Given the description of an element on the screen output the (x, y) to click on. 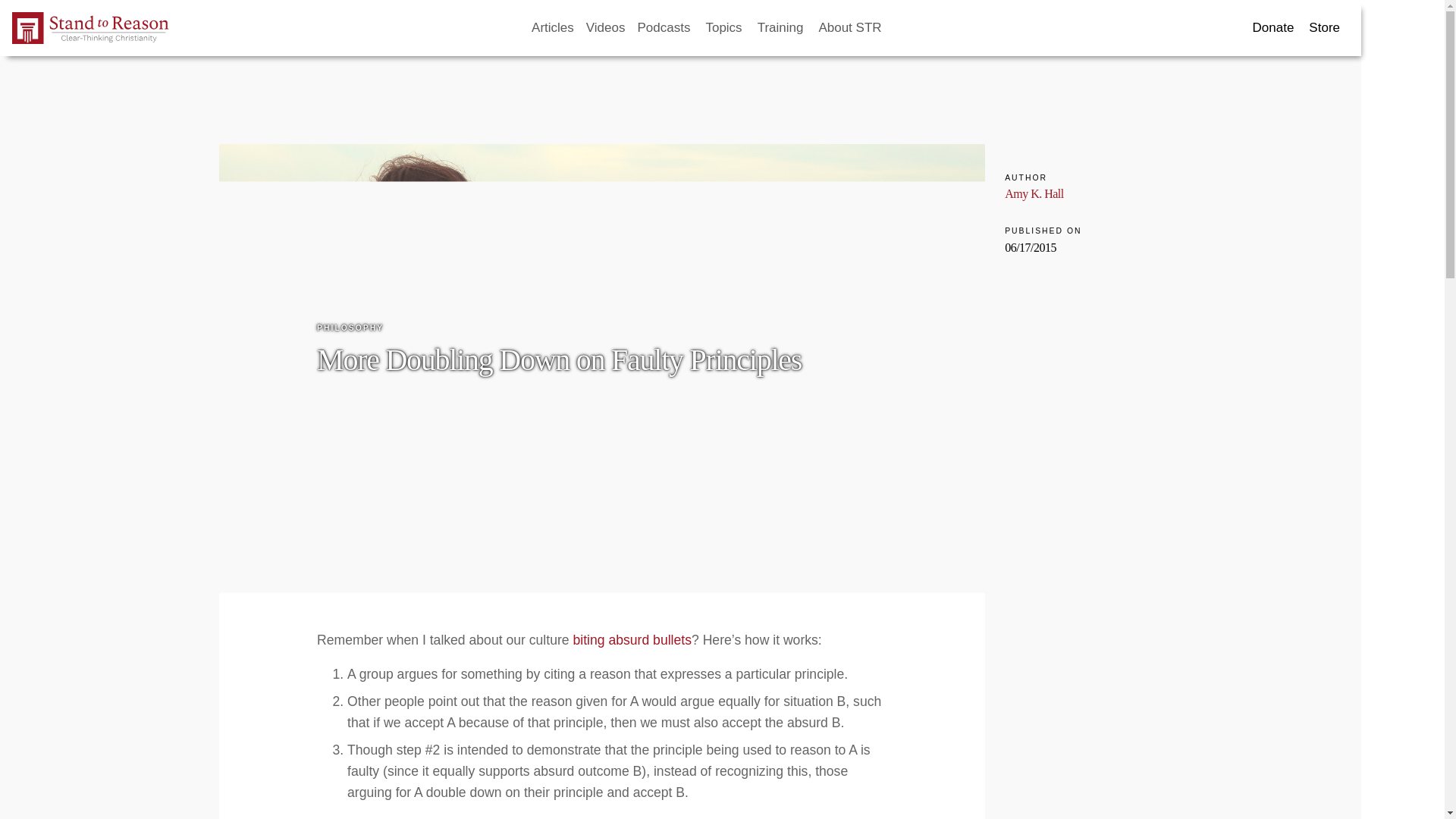
Topics (724, 28)
About STR (850, 28)
Training (781, 28)
Podcasts (664, 28)
Videos (605, 28)
Articles (552, 28)
